Given the description of an element on the screen output the (x, y) to click on. 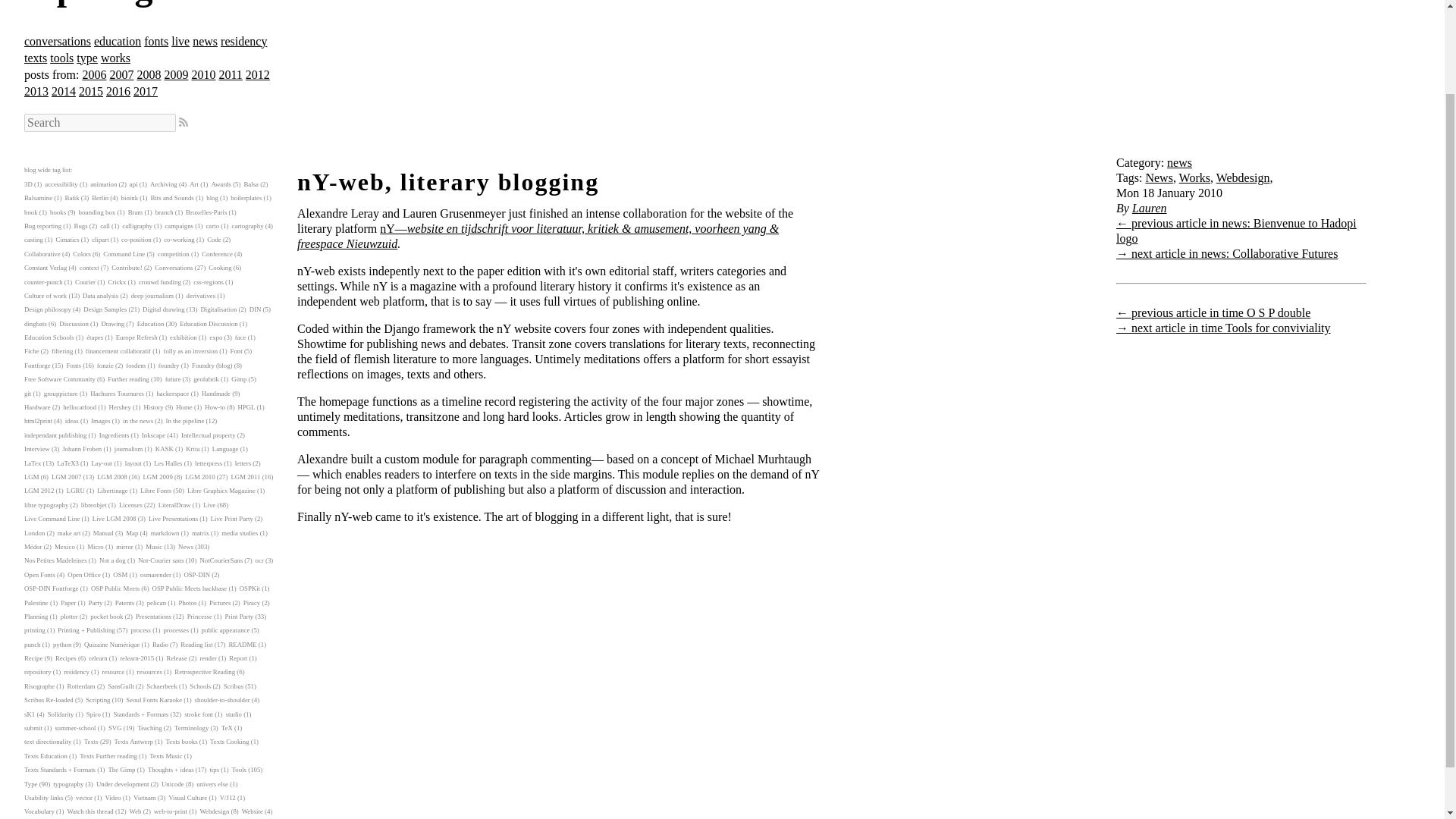
osp blog (115, 3)
type (87, 57)
tools (61, 57)
2006 (93, 74)
animation (103, 184)
3D (28, 184)
live (180, 41)
accessibility (61, 184)
news (204, 41)
Permalink to nY-web, literary blogging (447, 181)
2008 (148, 74)
Works (1194, 177)
2017 (145, 91)
News (1158, 177)
residency (243, 41)
